Given the description of an element on the screen output the (x, y) to click on. 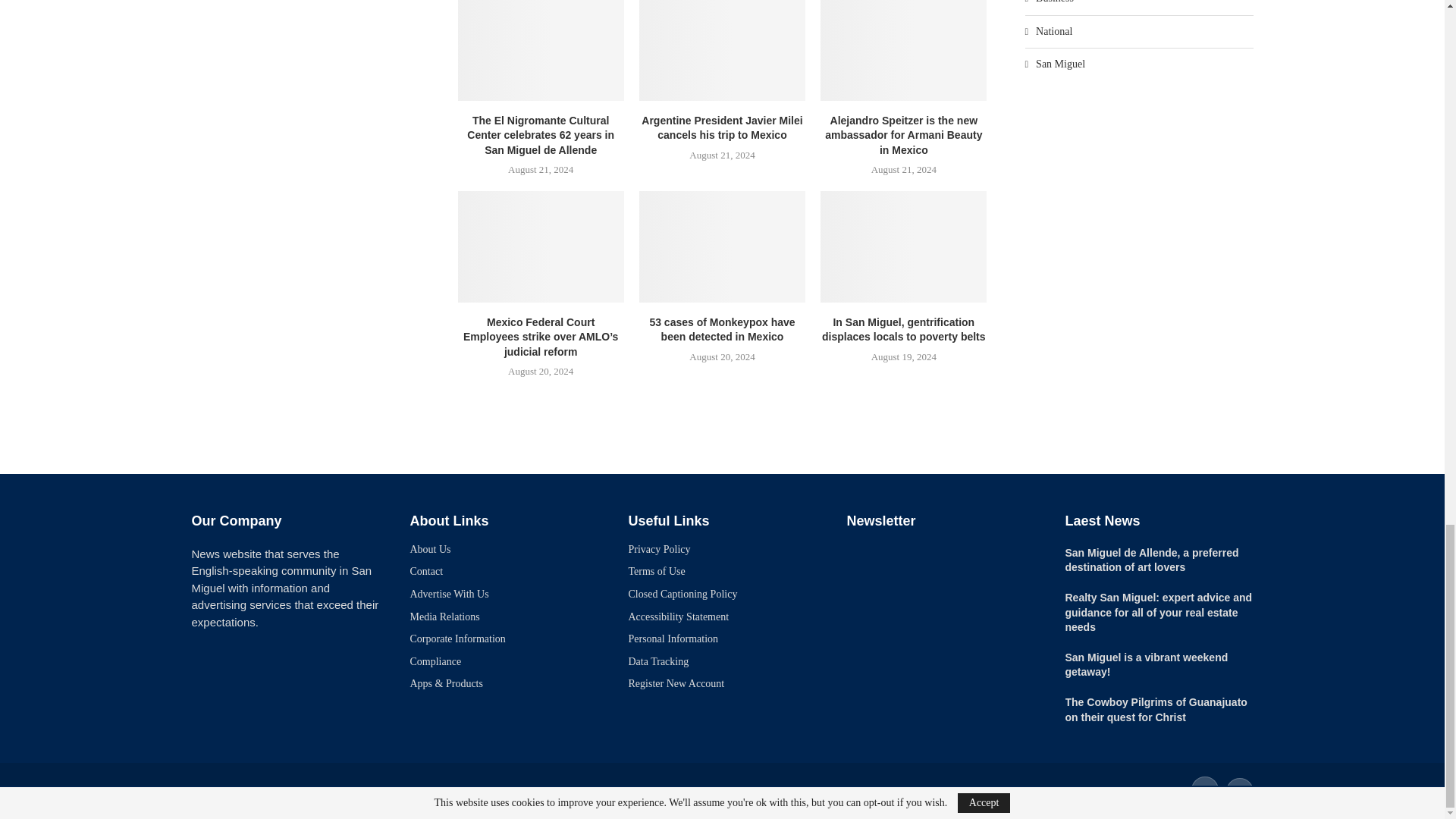
Argentine President Javier Milei cancels his trip to Mexico (722, 49)
53 cases of Monkeypox have been detected in Mexico (722, 246)
